Given the description of an element on the screen output the (x, y) to click on. 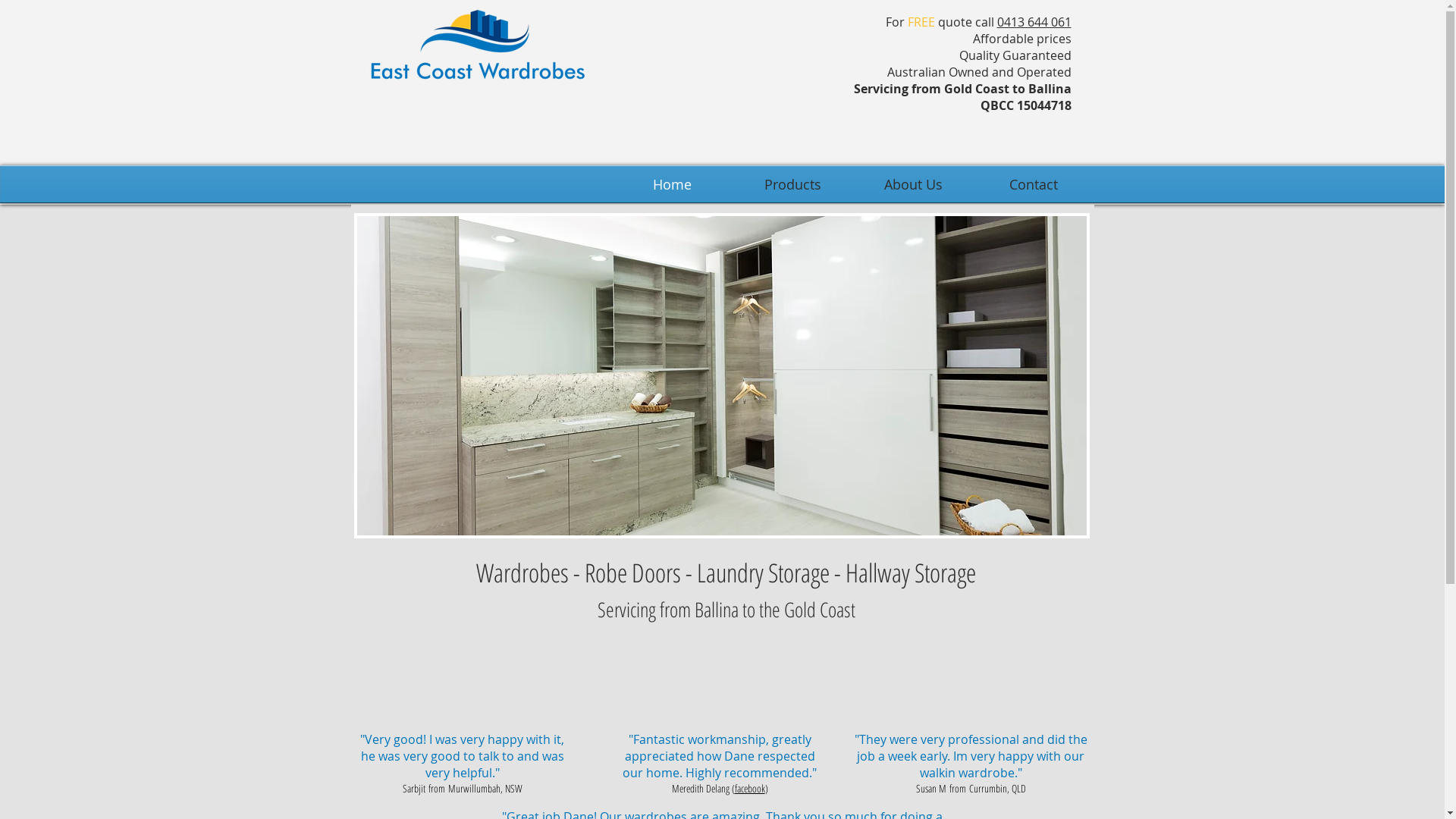
Products Element type: text (792, 184)
Home Element type: text (671, 184)
facebook Element type: text (749, 788)
About Us Element type: text (912, 184)
0413 644 061 Element type: text (1033, 21)
Contact Element type: text (1033, 184)
